Given the description of an element on the screen output the (x, y) to click on. 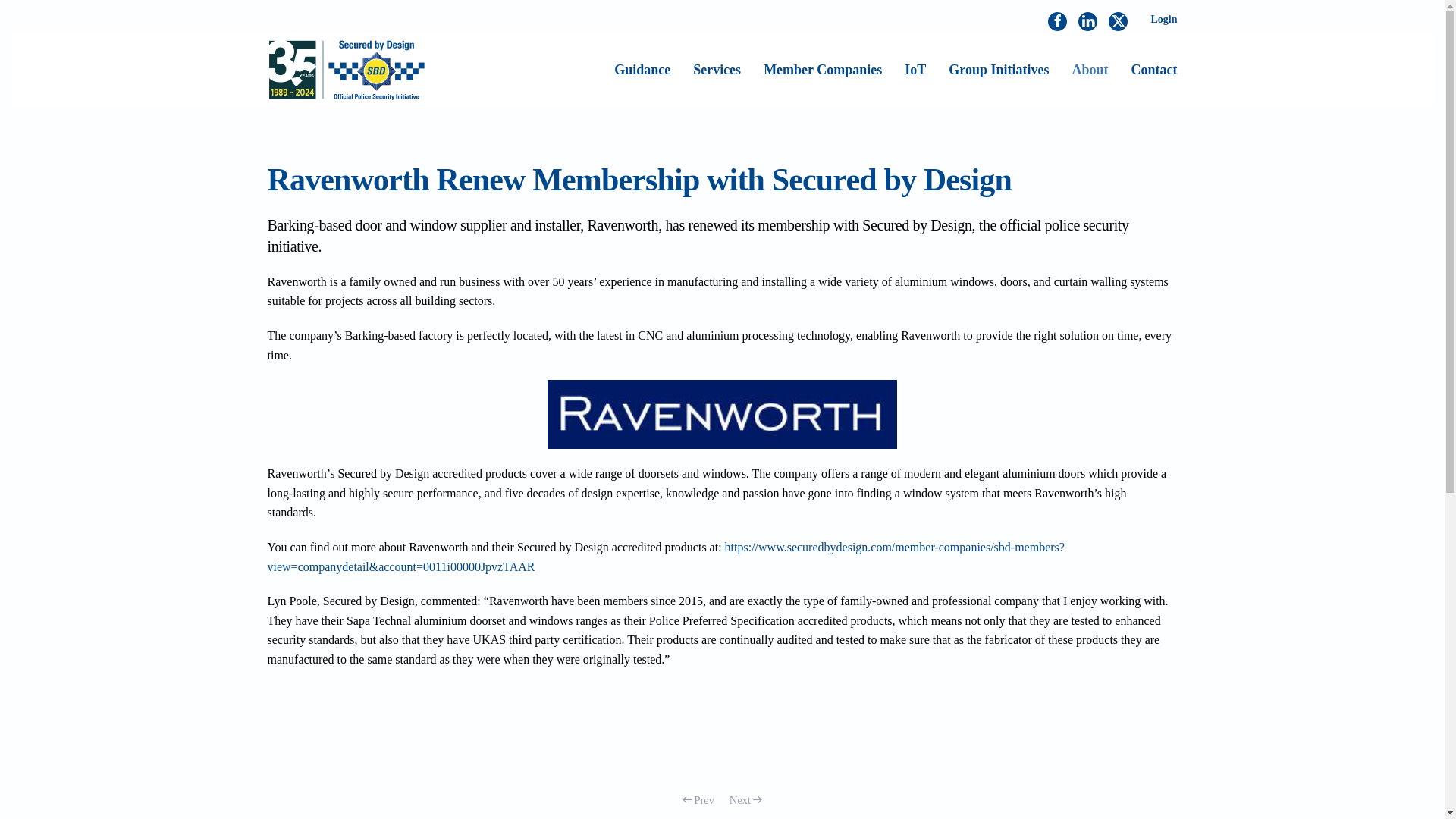
Guidance (641, 69)
Login (1163, 19)
